Given the description of an element on the screen output the (x, y) to click on. 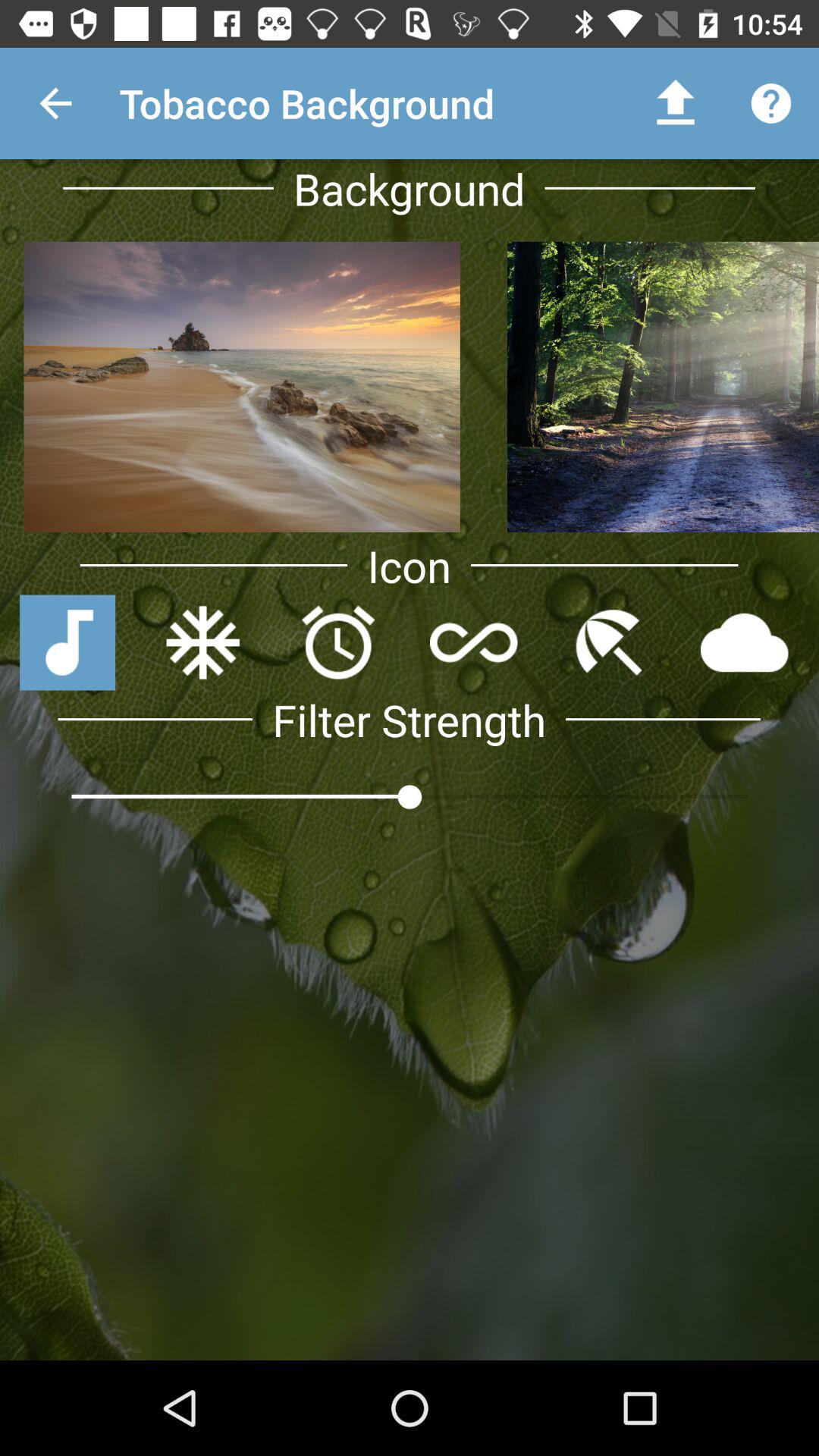
choose item next to the background icon (675, 103)
